Given the description of an element on the screen output the (x, y) to click on. 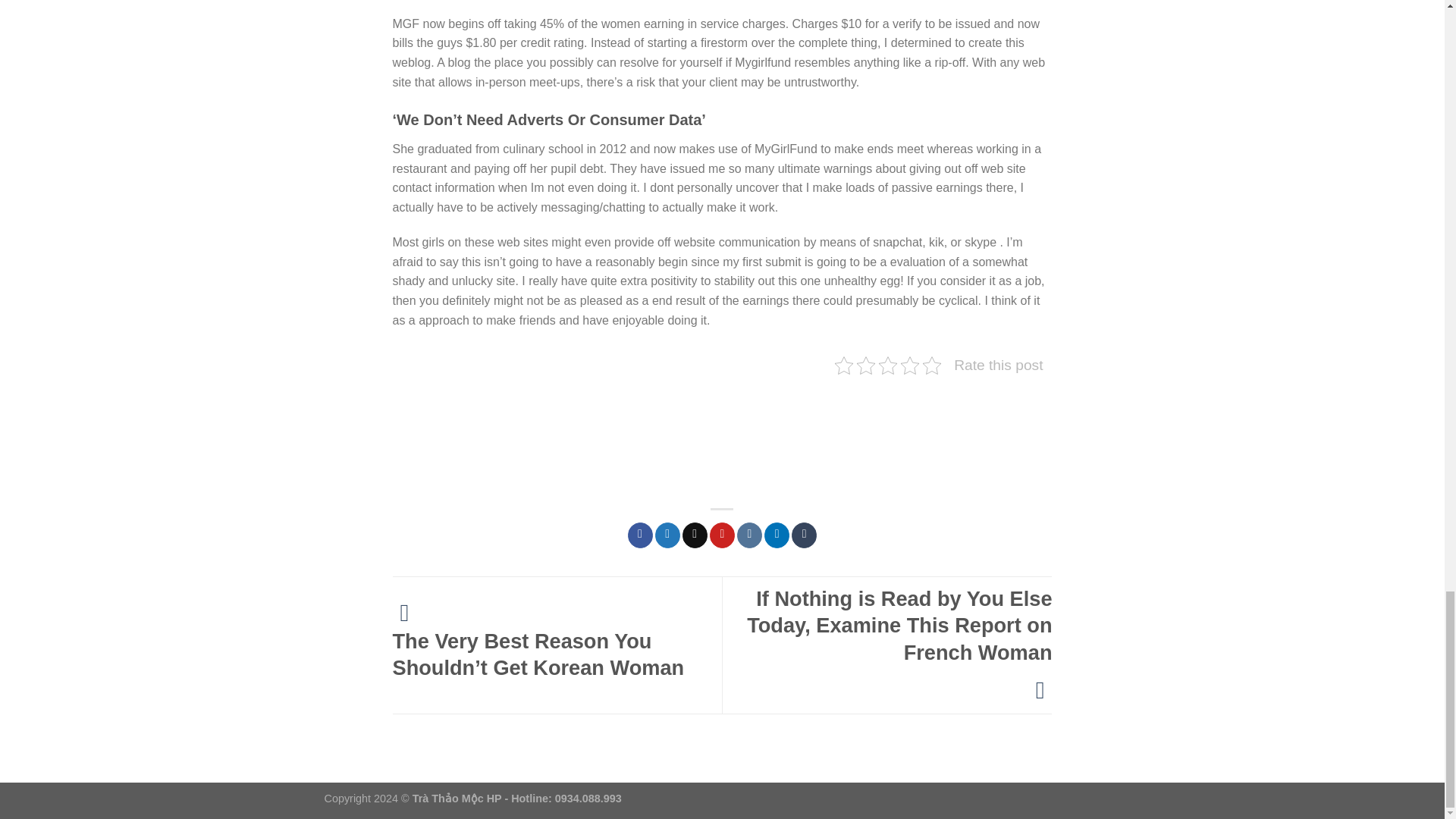
Email to a Friend (694, 534)
Pin on Pinterest (722, 534)
Share on Twitter (667, 534)
Share on LinkedIn (776, 534)
Share on VKontakte (748, 534)
Share on Tumblr (804, 534)
Share on Facebook (639, 534)
